Given the description of an element on the screen output the (x, y) to click on. 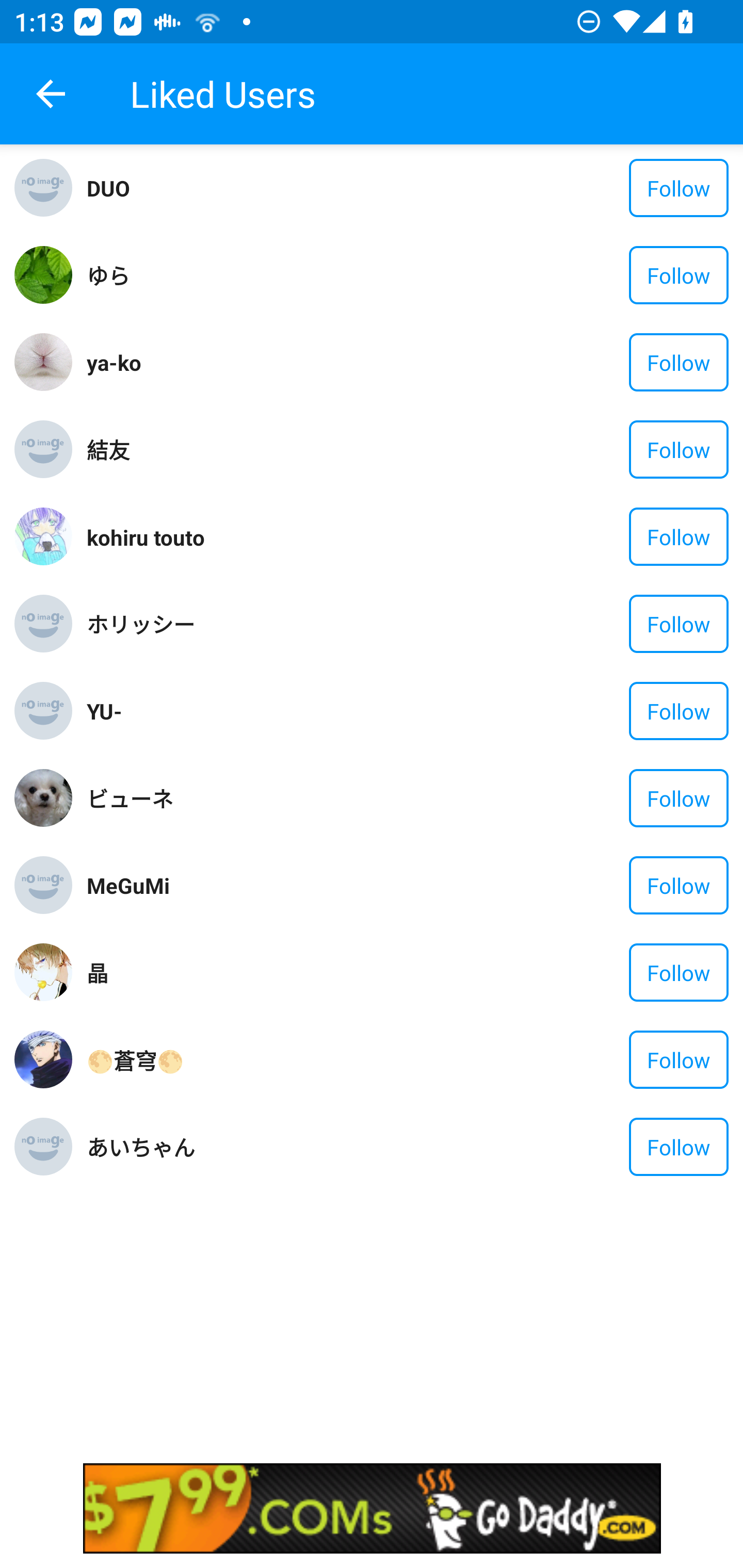
Navigate up (50, 93)
Follow (678, 188)
DUO (350, 188)
Follow (678, 275)
ゆら (350, 274)
Follow (678, 362)
ya-ko (350, 362)
Follow (678, 449)
結友 (350, 448)
Follow (678, 536)
kohiru touto　　 (350, 535)
Follow (678, 623)
ホリッシー (350, 623)
Follow (678, 710)
YU- (350, 710)
Follow (678, 798)
ビューネ (350, 797)
Follow (678, 885)
MeGuMi (350, 885)
Follow (678, 972)
晶 (350, 971)
Follow (678, 1059)
🌕蒼穹🌕 (350, 1059)
Follow (678, 1146)
あいちゃん (350, 1145)
560 (371, 1507)
